Given the description of an element on the screen output the (x, y) to click on. 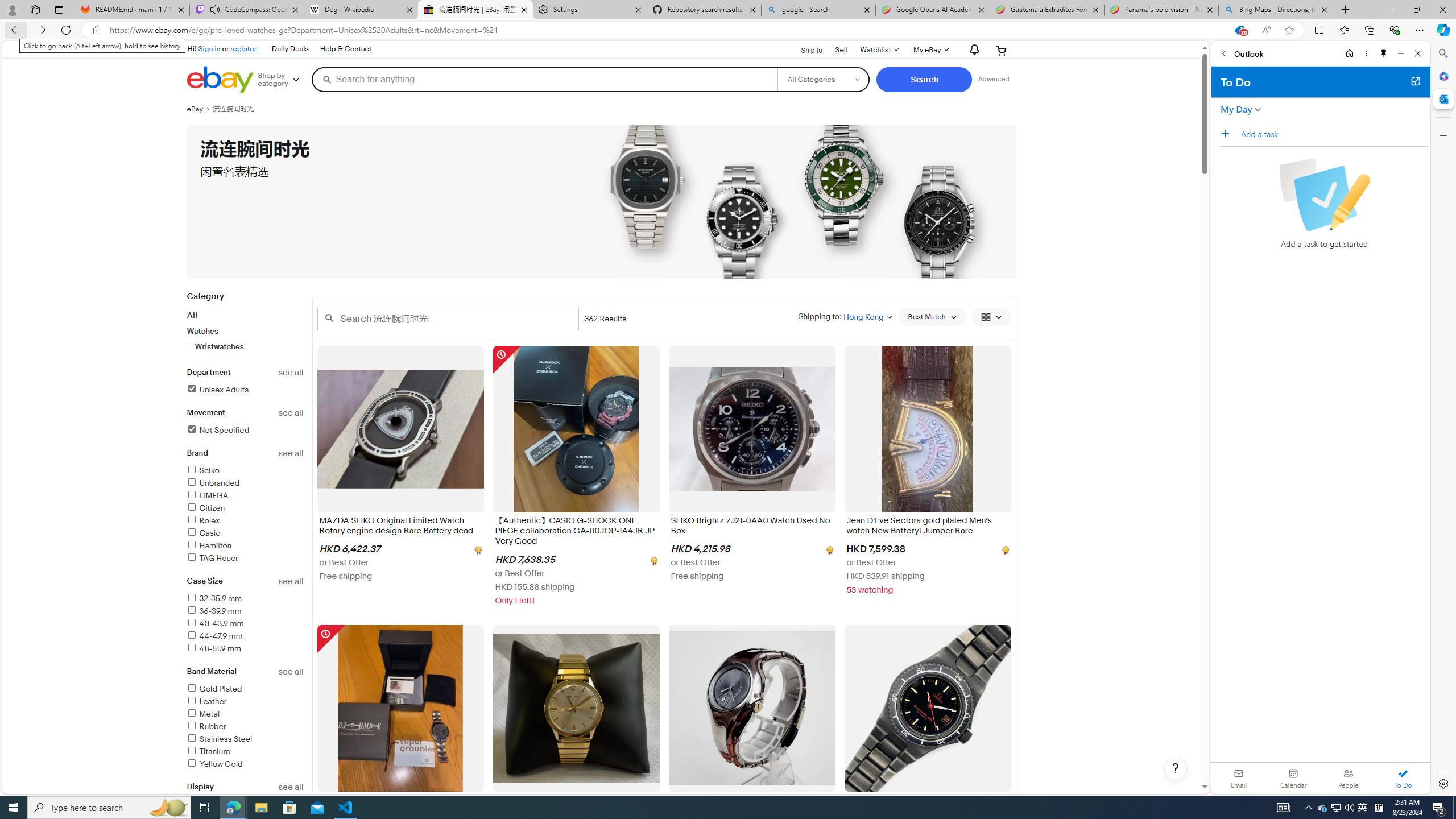
32-35.9 mm (245, 598)
TAG Heuer (212, 558)
Help, opens dialogs (1175, 768)
My eBay (930, 49)
OMEGA (207, 495)
Dog - Wikipedia (360, 9)
Gold Plated (213, 688)
Search for anything (544, 78)
CategoryAllWatchesWristwatches (245, 327)
Sort: Best Match (932, 316)
